Given the description of an element on the screen output the (x, y) to click on. 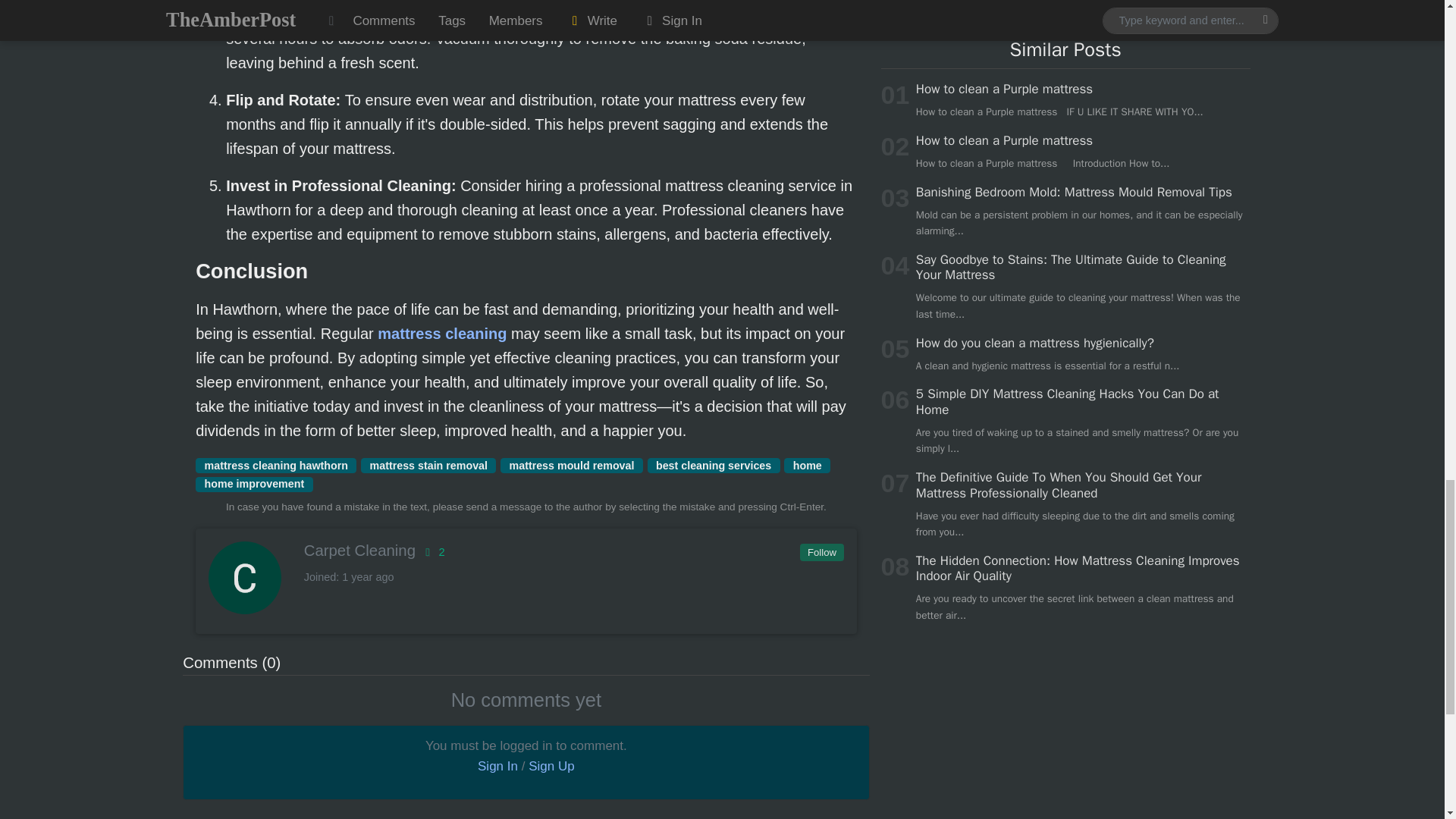
home improvement (254, 484)
mattress cleaning hawthorn (275, 465)
Sign Up (550, 766)
Rating (432, 551)
home (806, 465)
mattress cleaning (441, 333)
Sign In (497, 766)
Carpet Cleaning 2 (525, 550)
best cleaning services (713, 465)
mattress cleaning hawthorn (275, 465)
mattress mould removal (571, 465)
mattress stain removal (428, 465)
home improvement (254, 484)
home (806, 465)
mattress stain removal (428, 465)
